Given the description of an element on the screen output the (x, y) to click on. 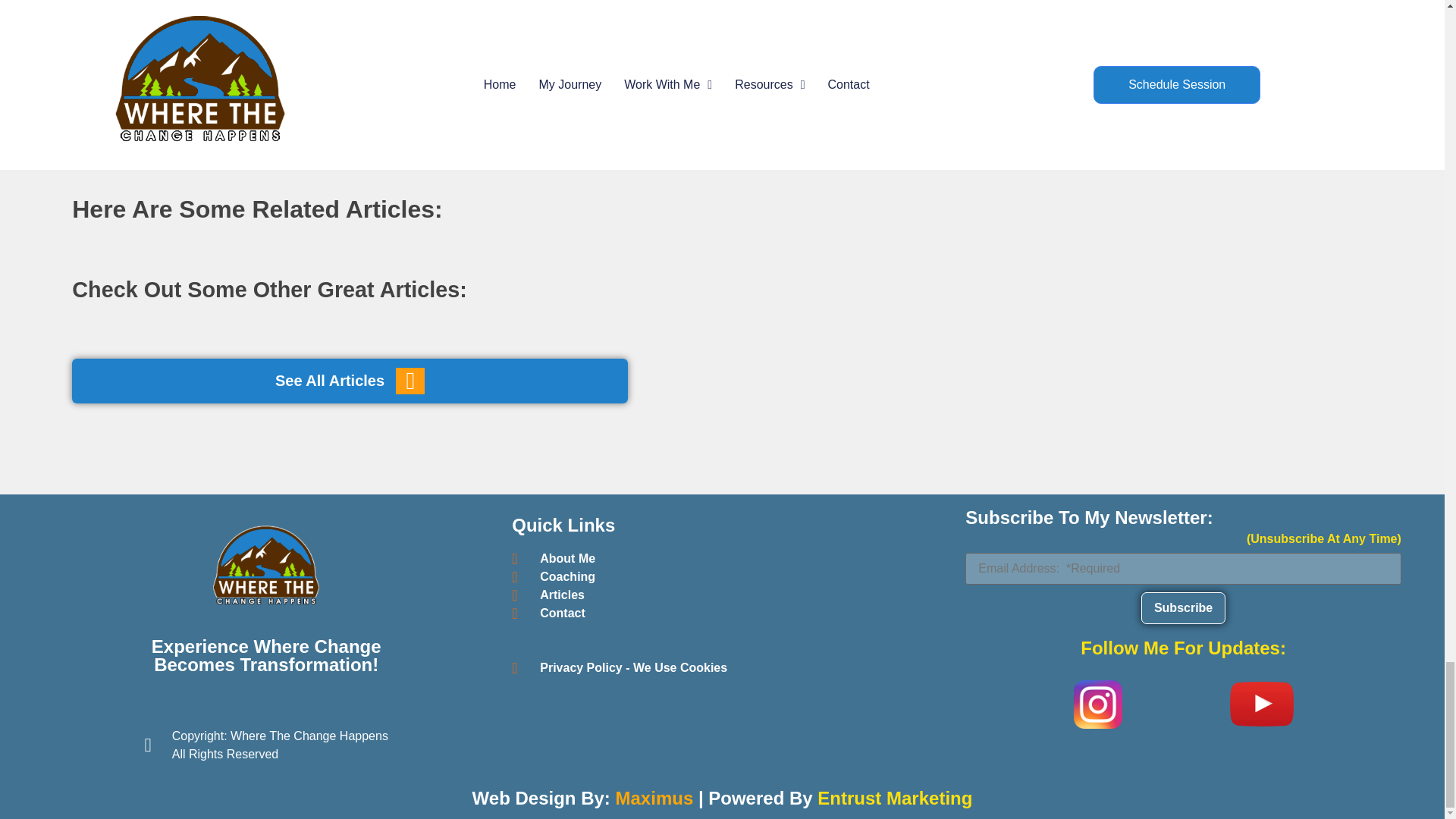
Post Comment (345, 70)
yes (294, 34)
